Given the description of an element on the screen output the (x, y) to click on. 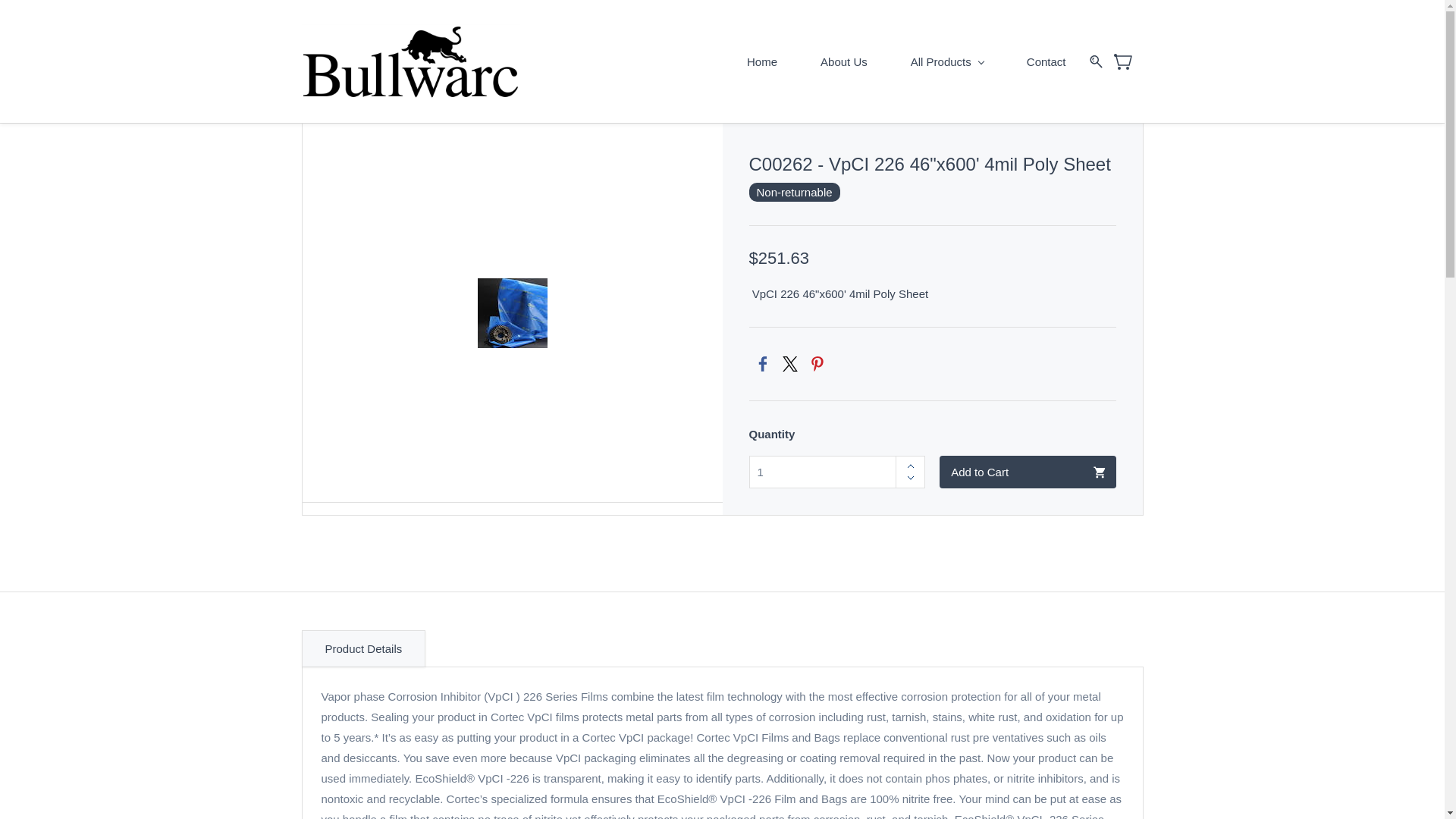
1 (794, 471)
Pinterest (816, 363)
Home (762, 61)
VpCI 226 46"x600' 4mil Poly Sheet (512, 312)
About Us (843, 61)
quantity (794, 471)
Twitter (788, 363)
Facebook (762, 363)
All Products (946, 61)
